Given the description of an element on the screen output the (x, y) to click on. 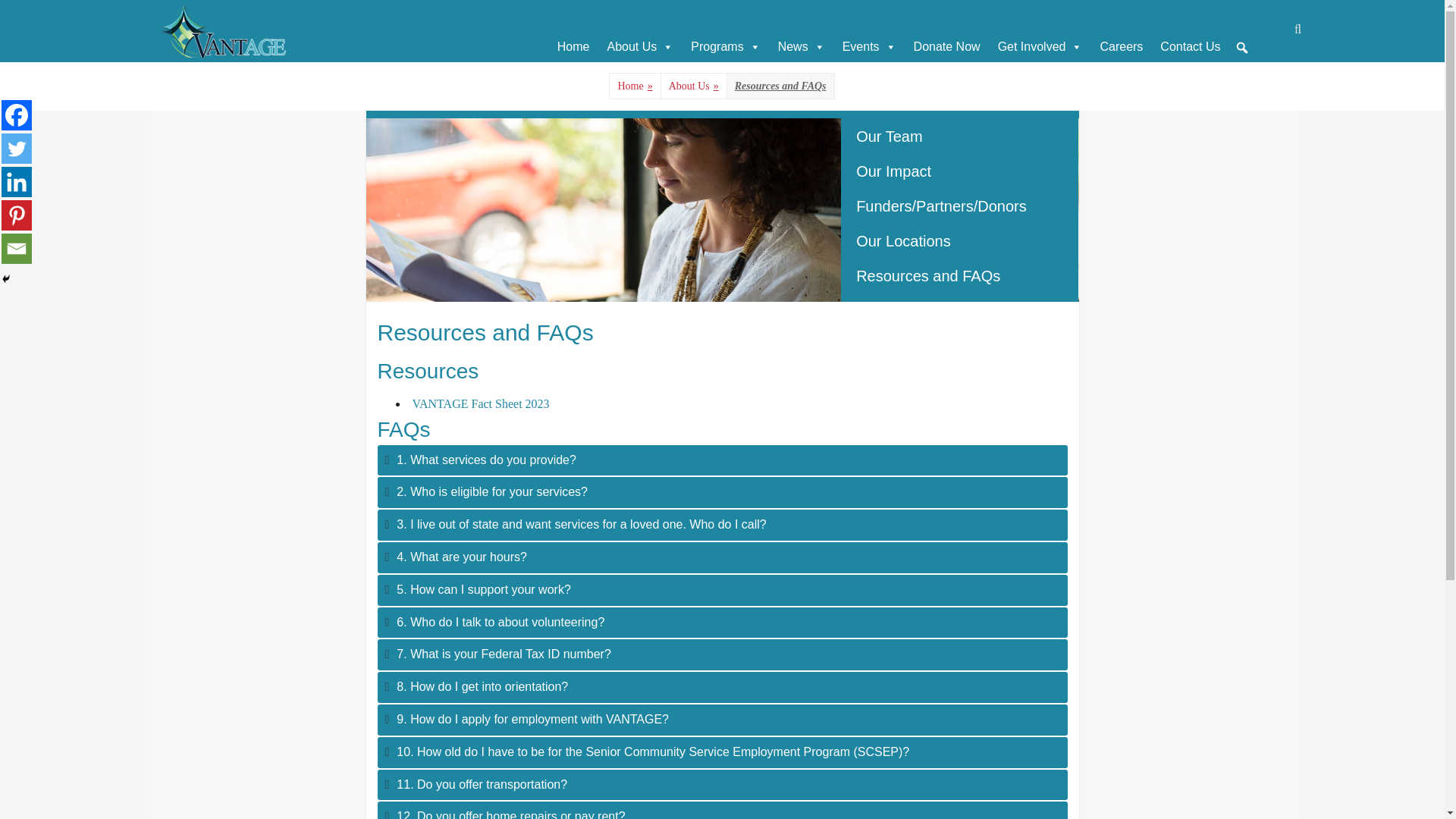
Email (16, 248)
Hide (5, 278)
Pinterest (16, 214)
Facebook (16, 114)
Twitter (16, 148)
Linkedin (16, 182)
